Given the description of an element on the screen output the (x, y) to click on. 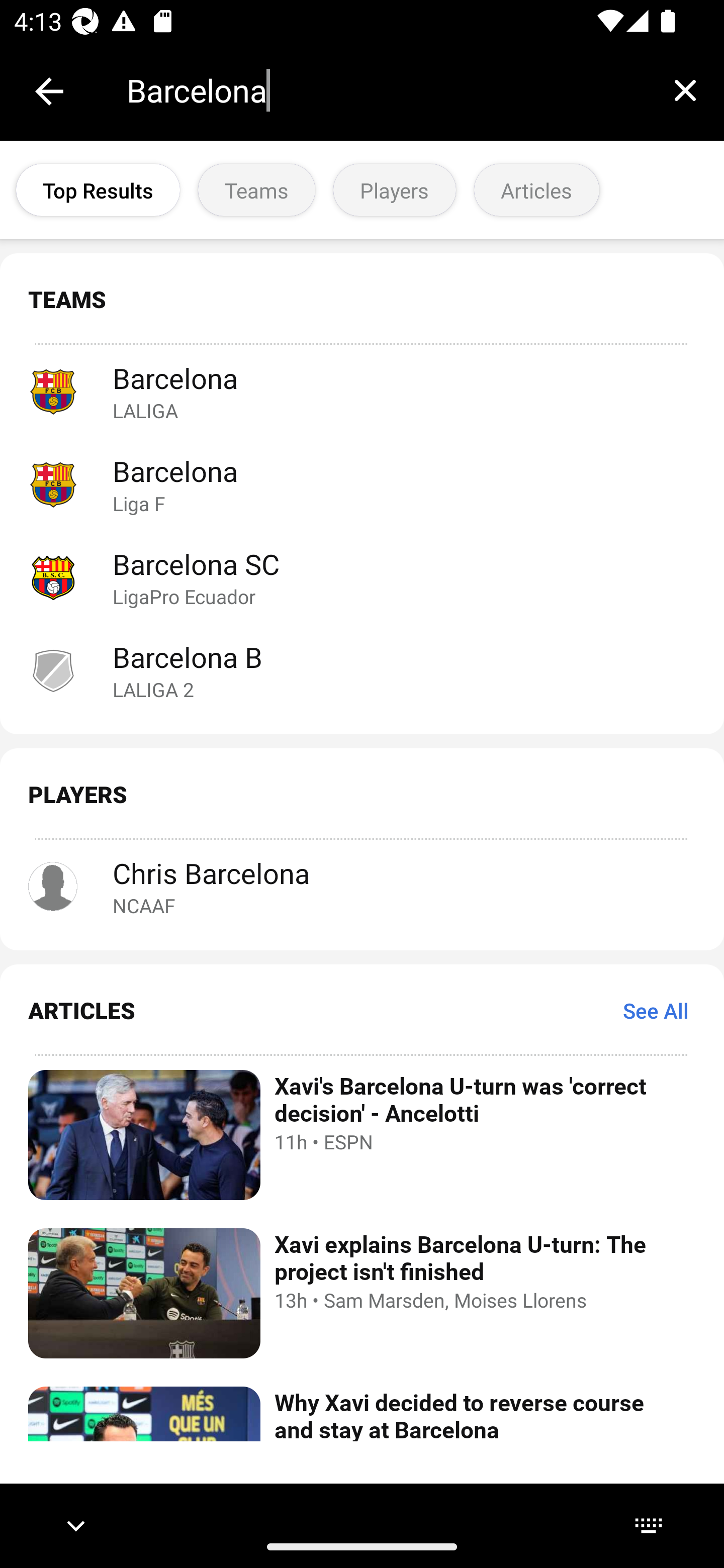
Collapse (49, 91)
Clear query (685, 89)
Barcelona (386, 90)
Top Results (97, 190)
Teams (256, 190)
Players (394, 190)
Articles (536, 190)
Barcelona : LALIGA Barcelona LALIGA (362, 390)
Barcelona : Liga F Barcelona Liga F (362, 483)
Barcelona B : LALIGA 2 Barcelona B LALIGA 2 (362, 670)
Chris Barcelona : NCAAF Chris Barcelona NCAAF (362, 886)
See All (655, 1010)
